Given the description of an element on the screen output the (x, y) to click on. 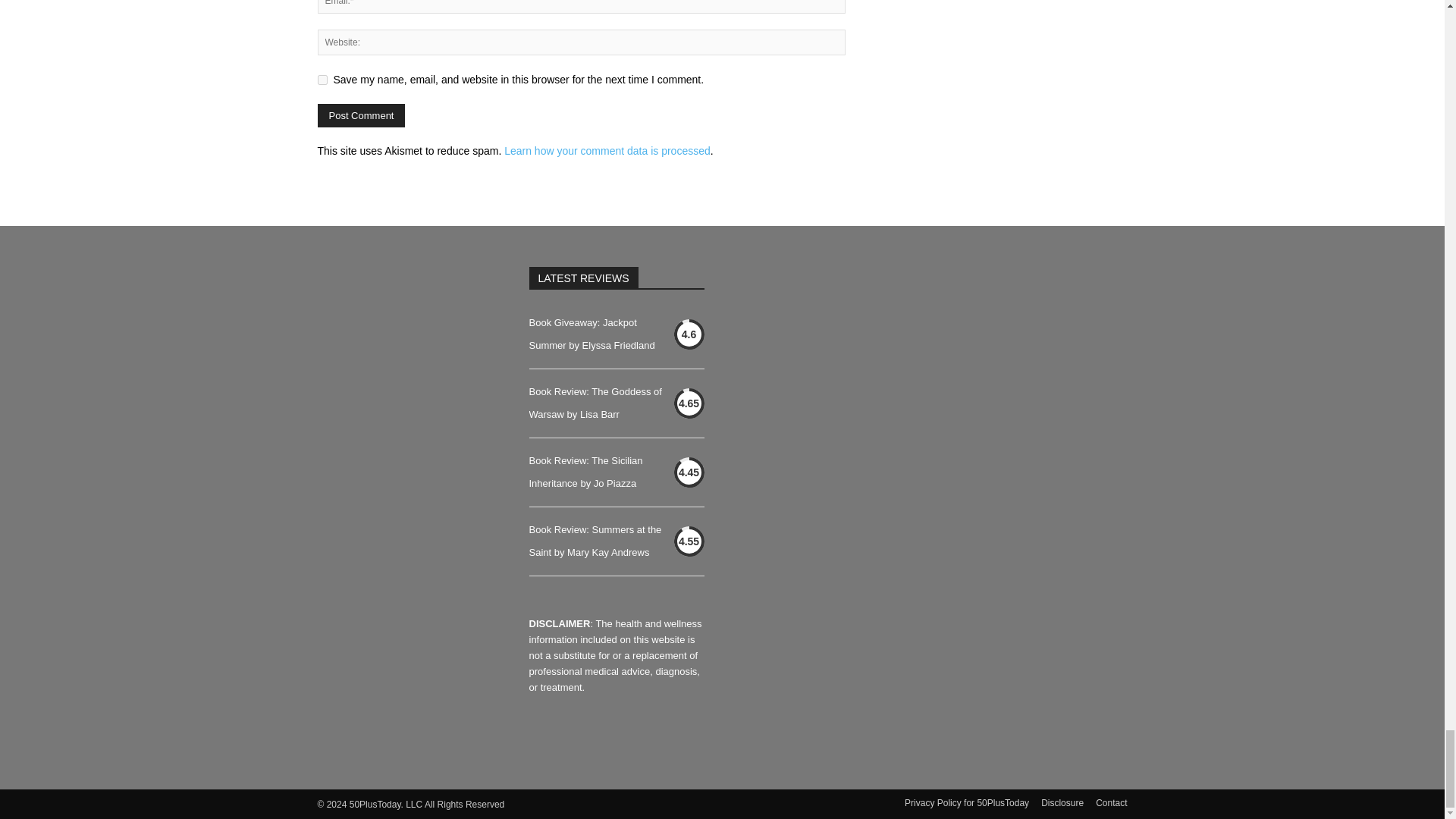
Post Comment (360, 115)
yes (321, 80)
